Given the description of an element on the screen output the (x, y) to click on. 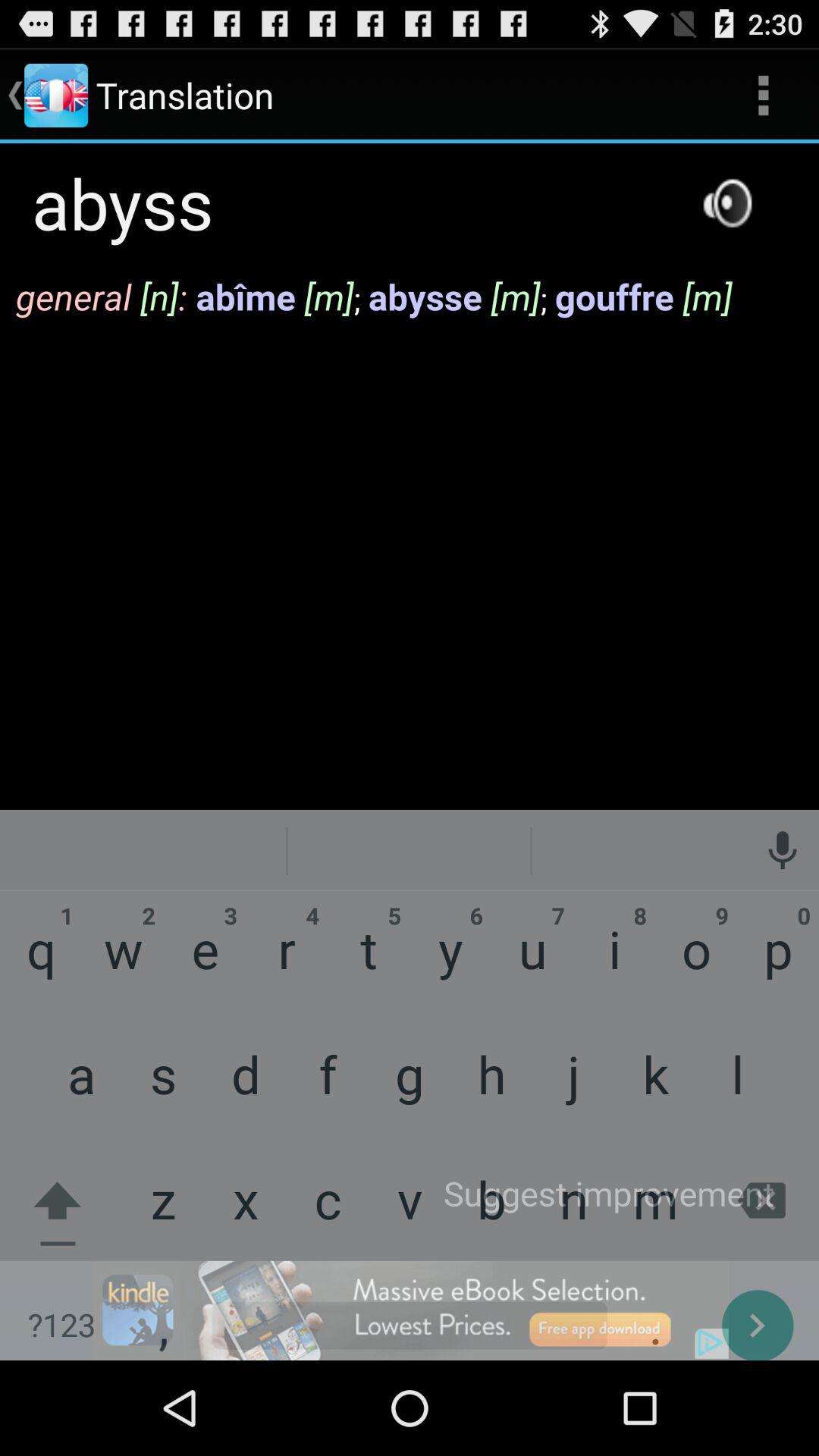
mute audio (727, 202)
